Given the description of an element on the screen output the (x, y) to click on. 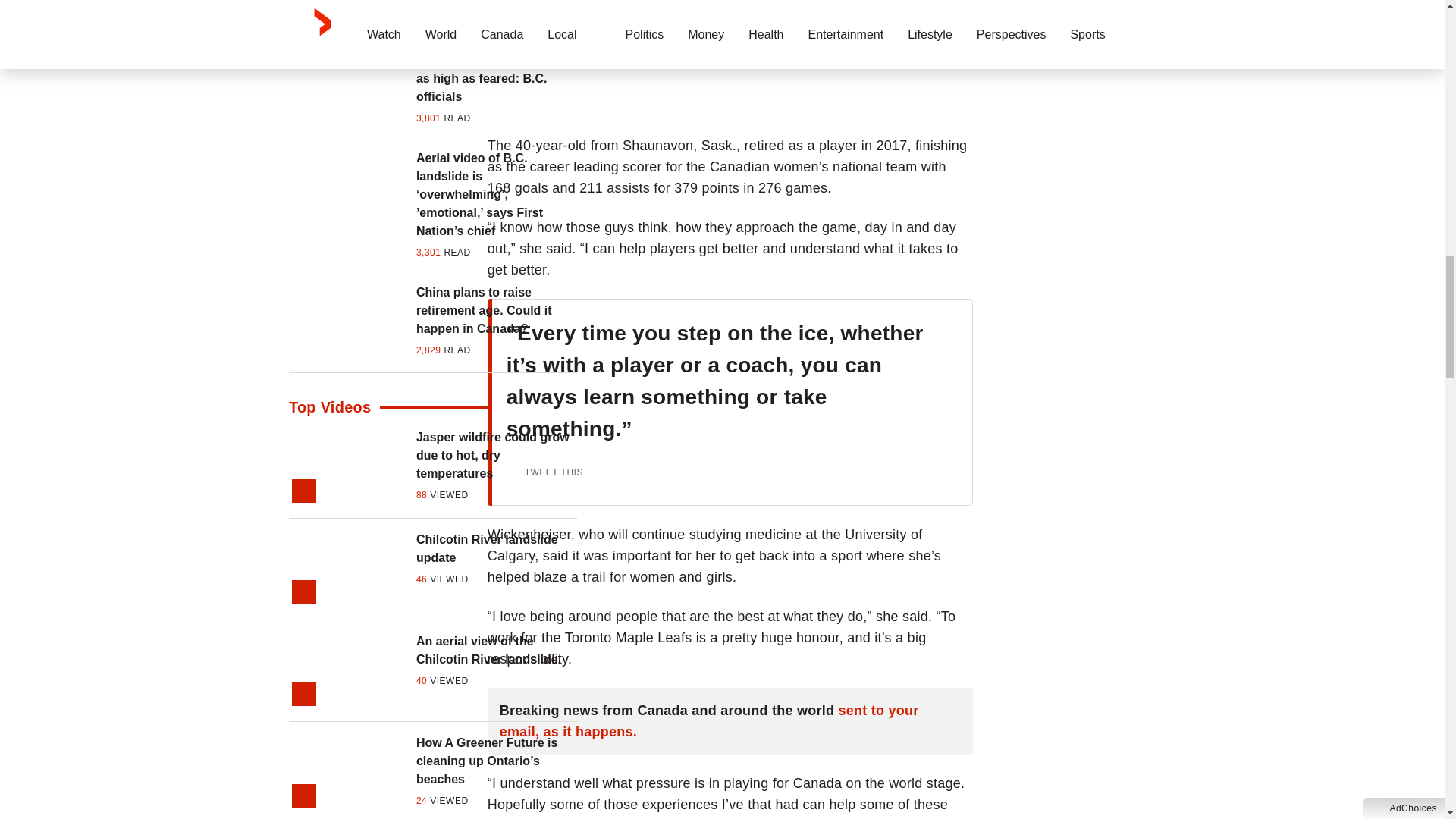
Chilcotin River landslide update (496, 548)
Jasper wildfire could grow due to hot, dry temperatures (496, 455)
An aerial view of the Chilcotin River landslide. (496, 650)
